Given the description of an element on the screen output the (x, y) to click on. 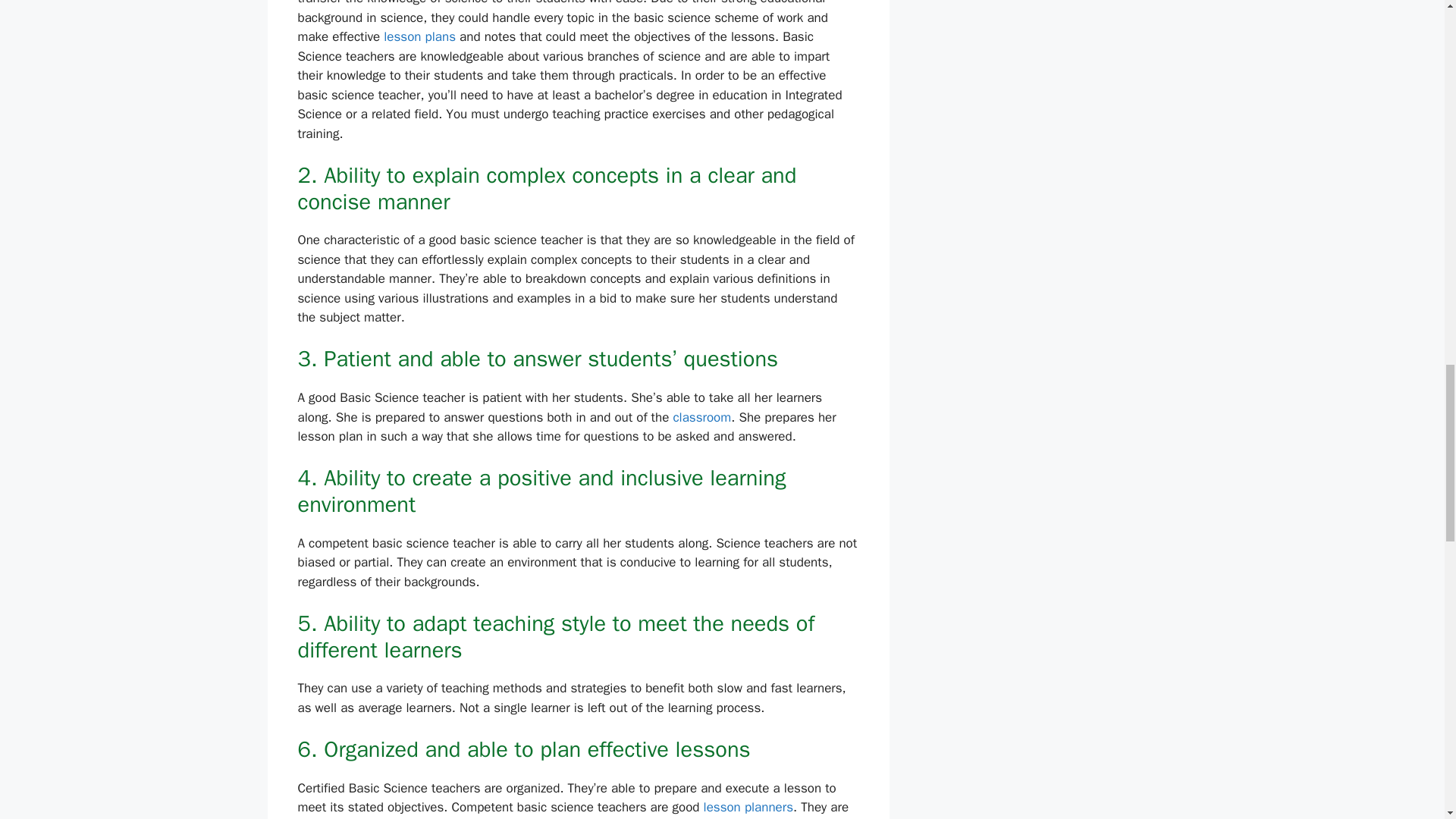
lesson planners (748, 806)
classroom (701, 417)
lesson plans (419, 36)
